Given the description of an element on the screen output the (x, y) to click on. 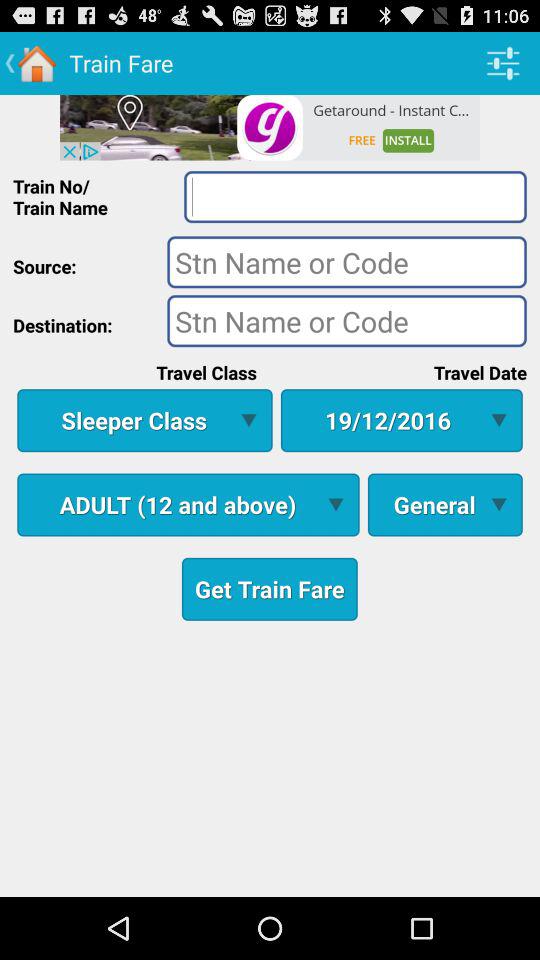
data entry field (346, 320)
